Given the description of an element on the screen output the (x, y) to click on. 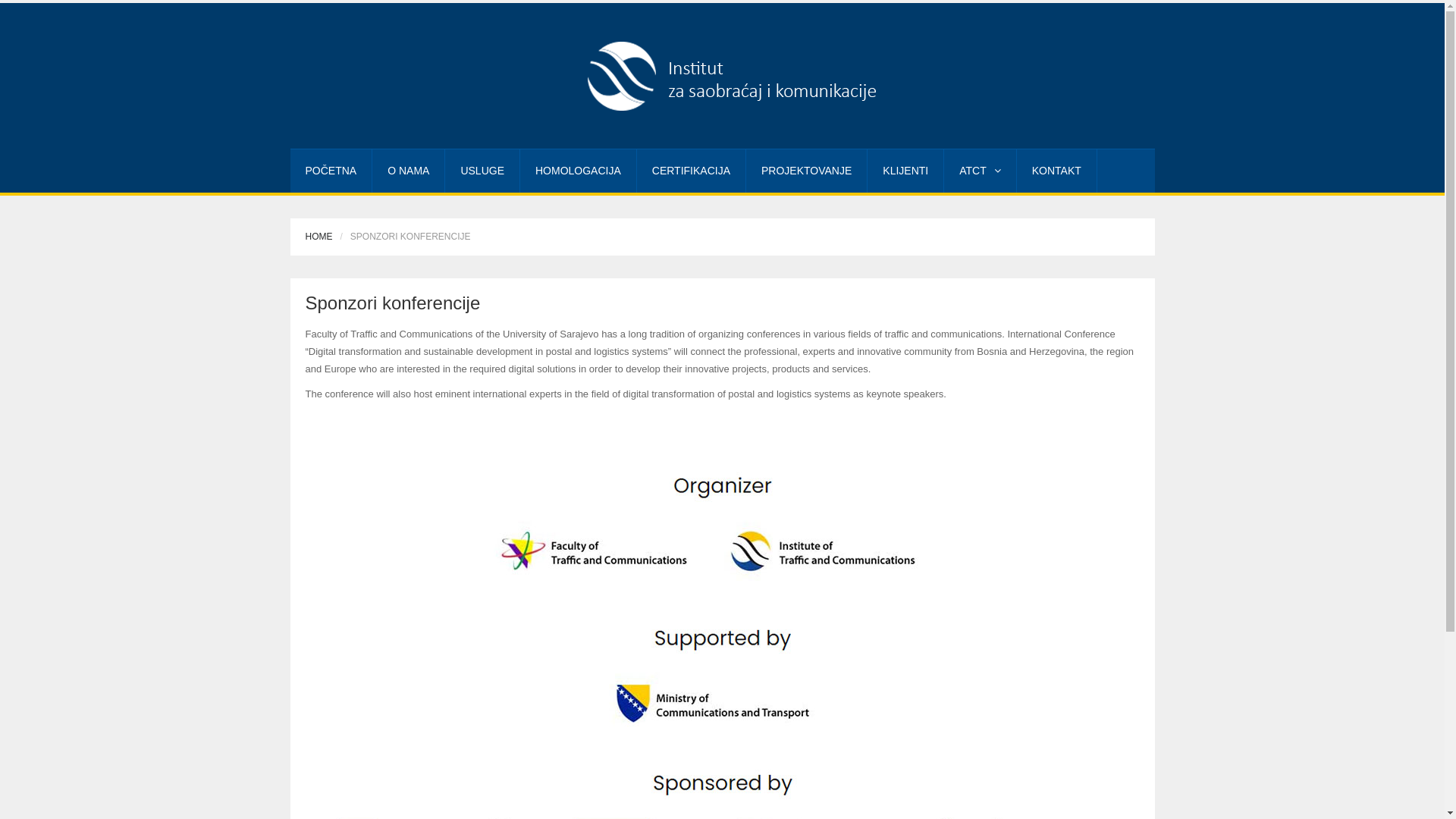
PROJEKTOVANJE Element type: text (806, 170)
HOME Element type: text (318, 236)
KONTAKT Element type: text (1056, 170)
CERTIFIKACIJA Element type: text (691, 170)
ATCT Element type: text (980, 170)
HOMOLOGACIJA Element type: text (578, 170)
KLIJENTI Element type: text (905, 170)
O NAMA Element type: text (408, 170)
USLUGE Element type: text (482, 170)
